Given the description of an element on the screen output the (x, y) to click on. 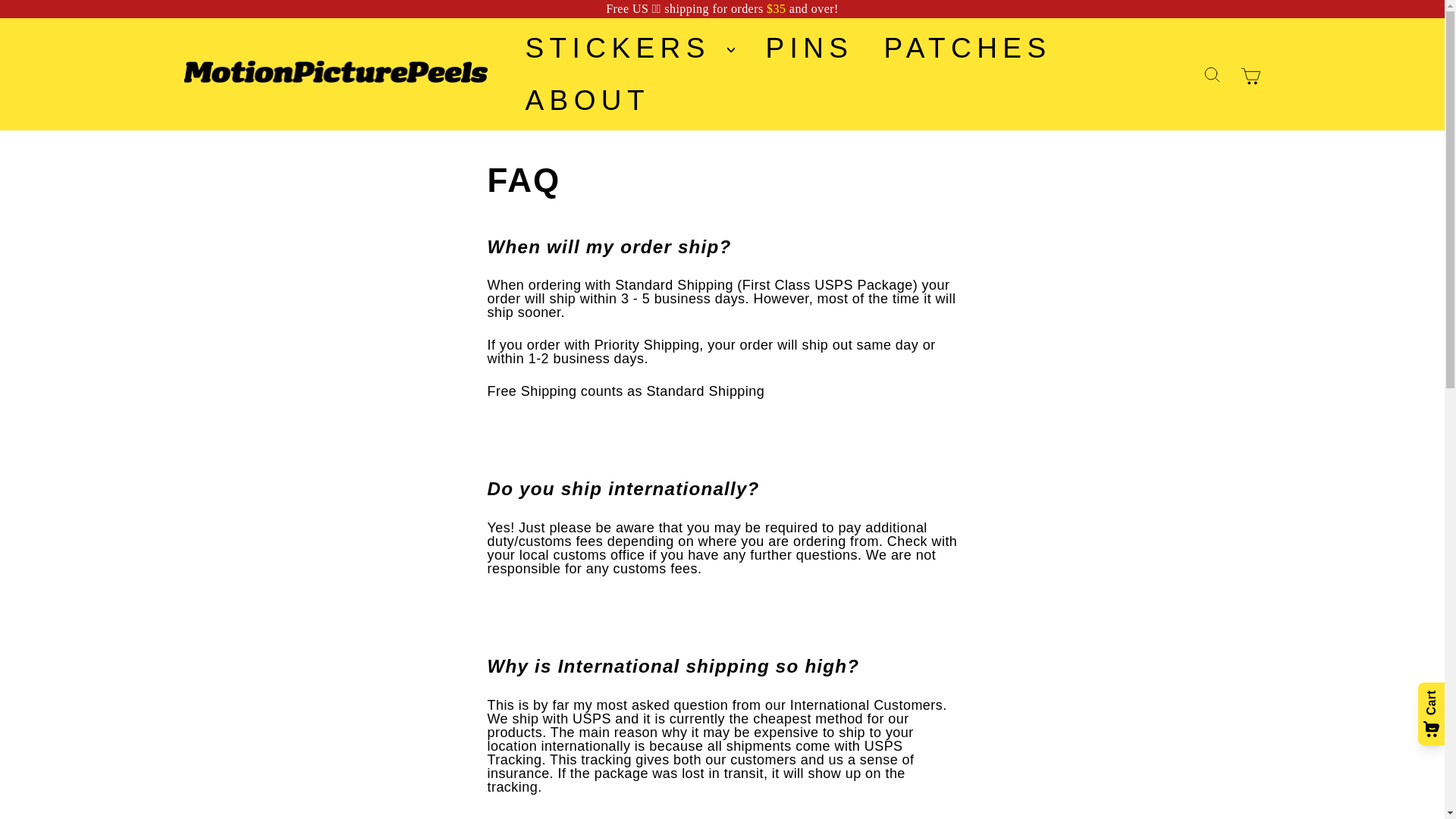
PATCHES (966, 48)
PINS (808, 48)
ABOUT (586, 100)
